Given the description of an element on the screen output the (x, y) to click on. 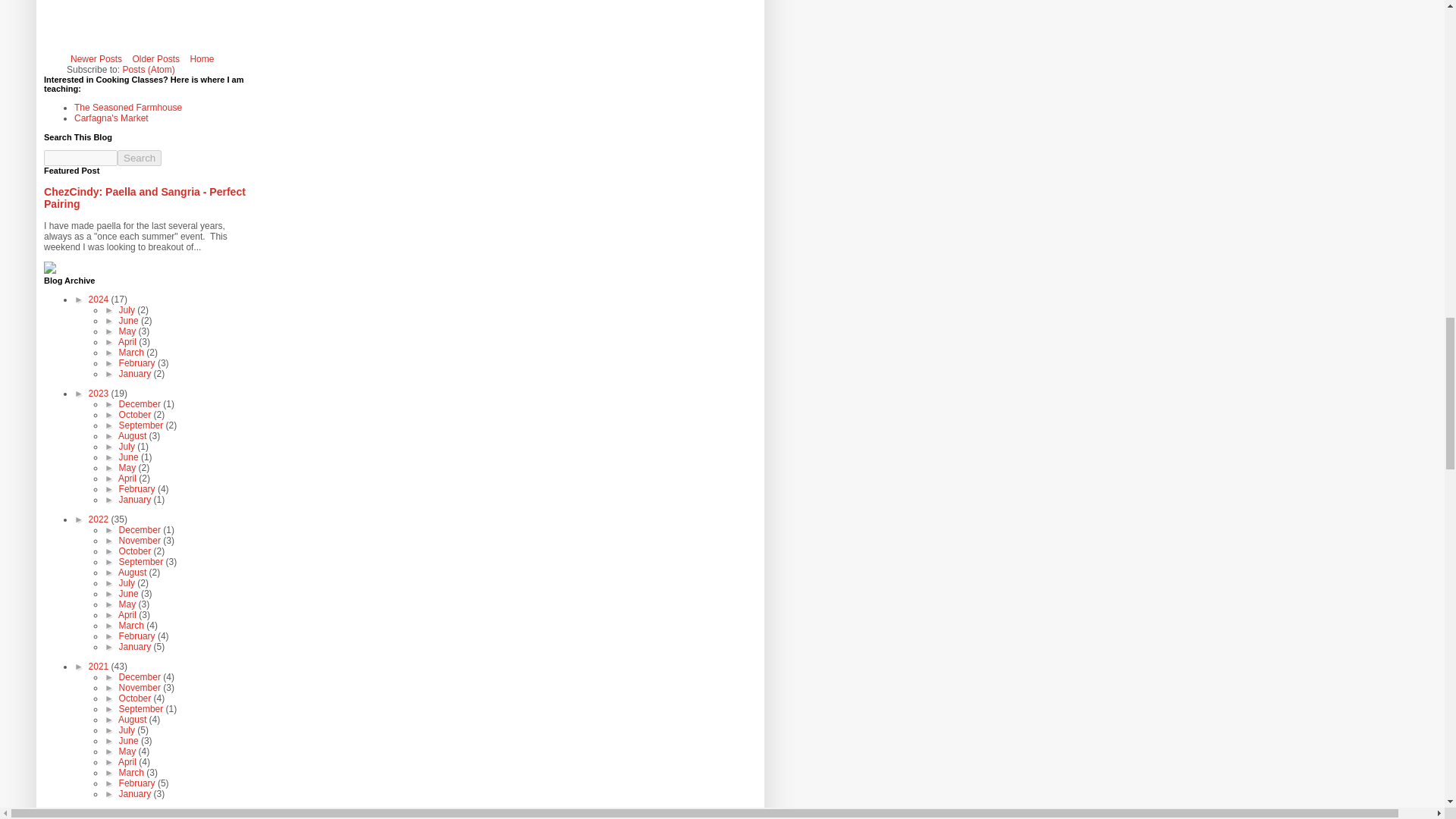
Search (139, 157)
Advertisement (297, 27)
Older Posts (155, 58)
The Seasoned Farmhouse (128, 107)
search (80, 157)
July (128, 309)
search (139, 157)
February (138, 362)
April (127, 341)
2023 (100, 393)
Carfagna's Market (111, 118)
March (133, 352)
Home (201, 58)
Newer Posts (95, 58)
May (128, 330)
